Given the description of an element on the screen output the (x, y) to click on. 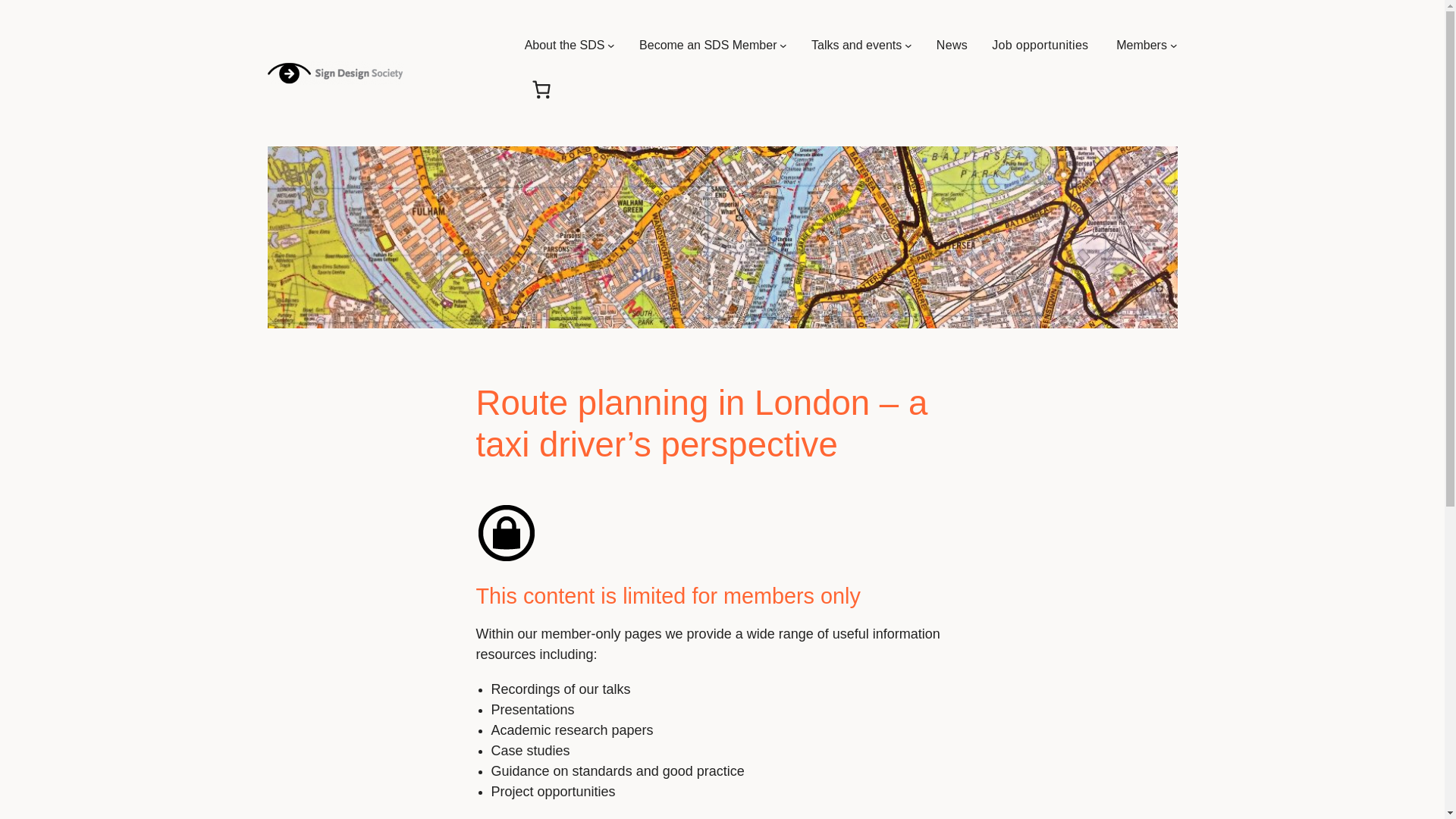
Become an SDS Member (707, 45)
Talks and events (855, 45)
About the SDS (564, 45)
Job opportunities  (1041, 45)
News (952, 45)
Members (1141, 45)
